Given the description of an element on the screen output the (x, y) to click on. 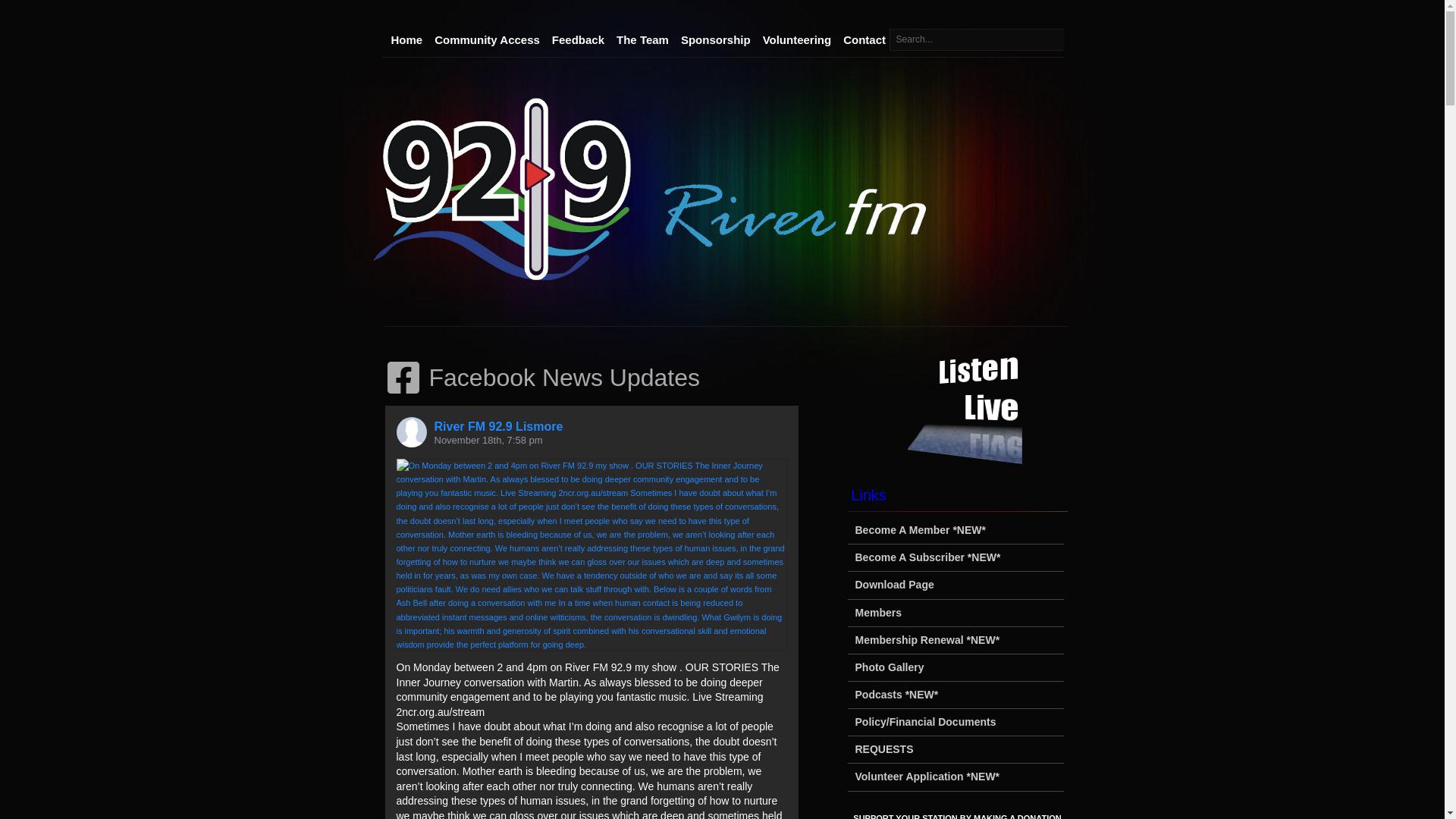
Feedback Element type: text (578, 39)
Membership Renewal *NEW* Element type: text (927, 639)
River FM 92.9 Lismore Element type: text (497, 426)
REQUESTS Element type: text (884, 749)
Photo Gallery Element type: text (889, 667)
Volunteering Element type: text (796, 39)
Community Access Element type: text (487, 39)
Download Page Element type: text (894, 584)
Podcasts *NEW* Element type: text (896, 694)
Home Element type: text (407, 39)
Submit Element type: text (18, 9)
Volunteer Application *NEW* Element type: text (927, 776)
Become A Member *NEW* Element type: text (920, 530)
Policy/Financial Documents Element type: text (925, 721)
The Team Element type: text (642, 39)
Become A Subscriber *NEW* Element type: text (928, 557)
Members Element type: text (878, 612)
Sponsorship Element type: text (715, 39)
Contact Us Element type: text (873, 39)
